Given the description of an element on the screen output the (x, y) to click on. 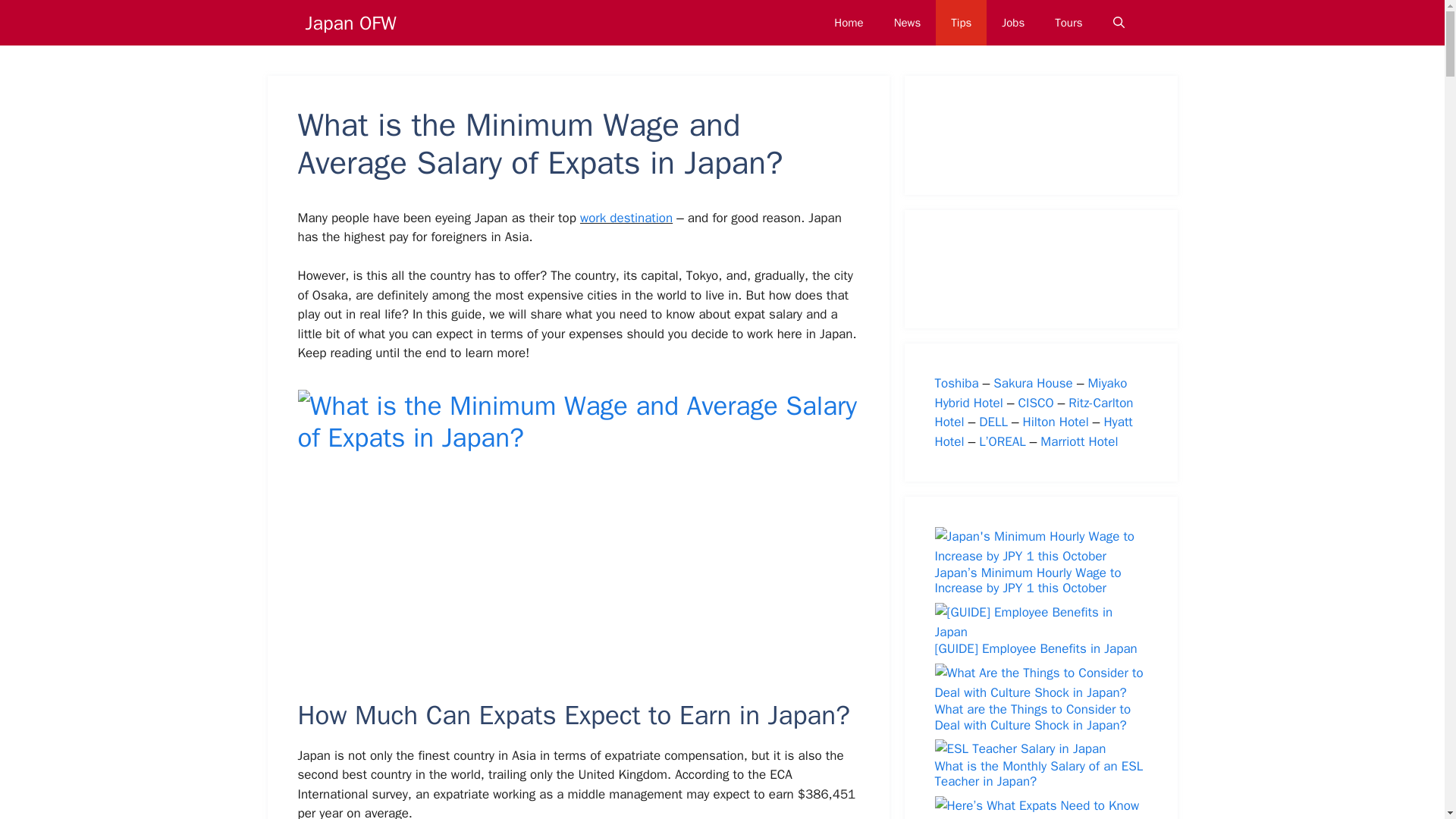
Japan OFW (350, 22)
Miyako Hybrid Hotel (1030, 393)
Jobs (1013, 22)
Tips (961, 22)
Sakura House (1032, 383)
Home (847, 22)
work destination (625, 217)
Toshiba (956, 383)
Tours (1068, 22)
News (907, 22)
